Given the description of an element on the screen output the (x, y) to click on. 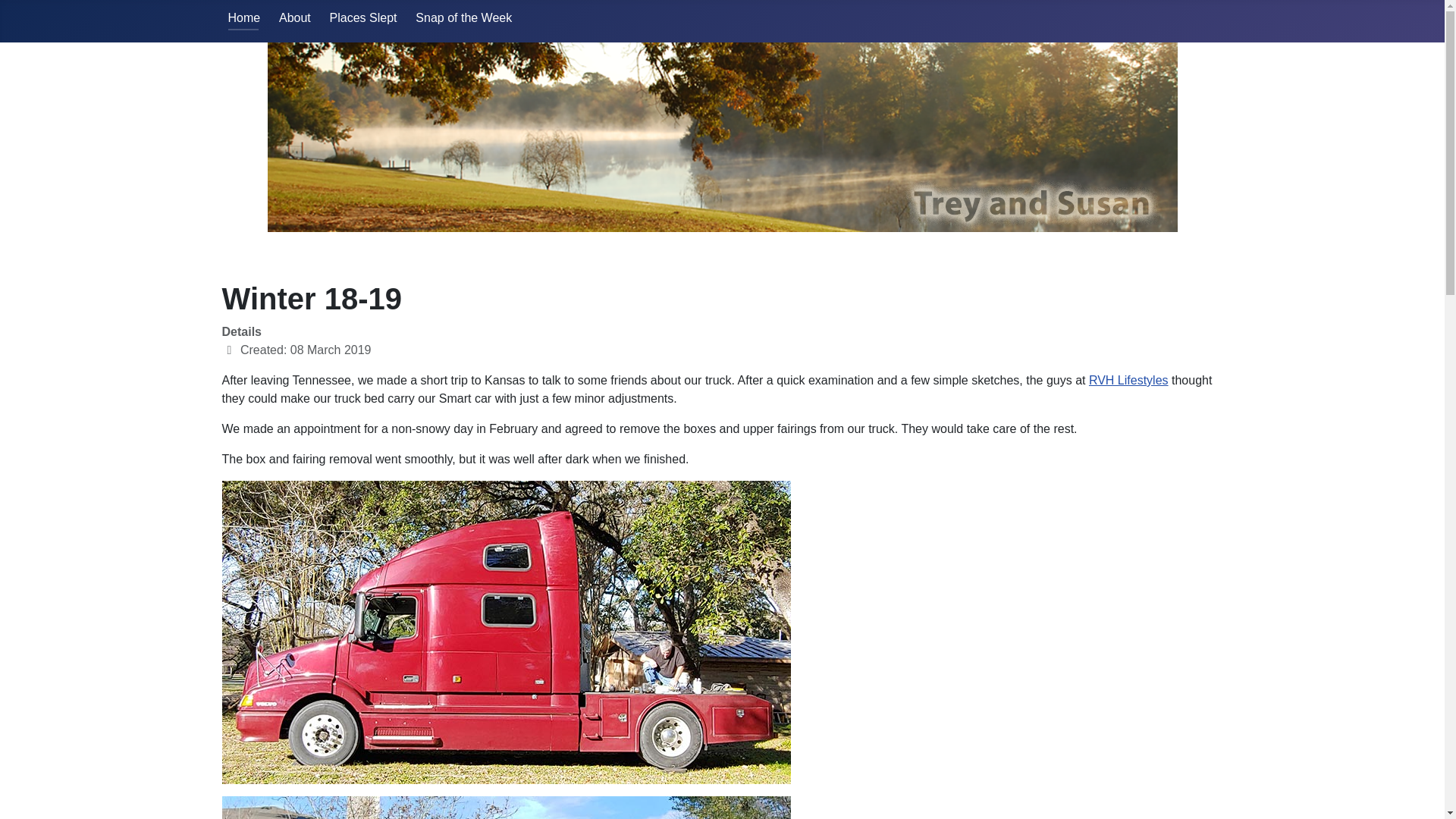
RVH Lifestyles (1129, 379)
Snap of the Week (463, 17)
Home (243, 17)
Places Slept (363, 17)
About (295, 17)
